Given the description of an element on the screen output the (x, y) to click on. 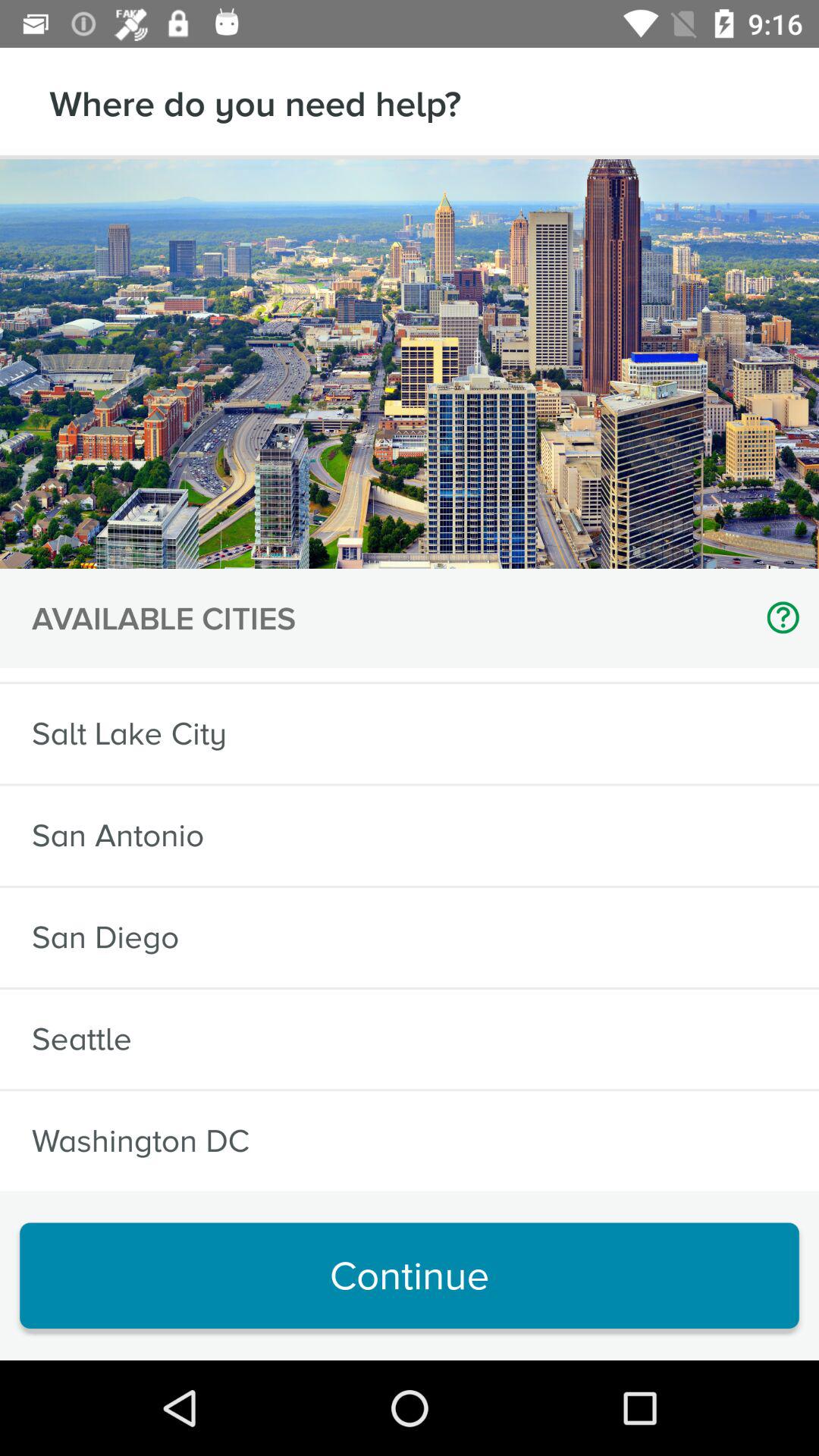
click the sf bay area icon (119, 674)
